Given the description of an element on the screen output the (x, y) to click on. 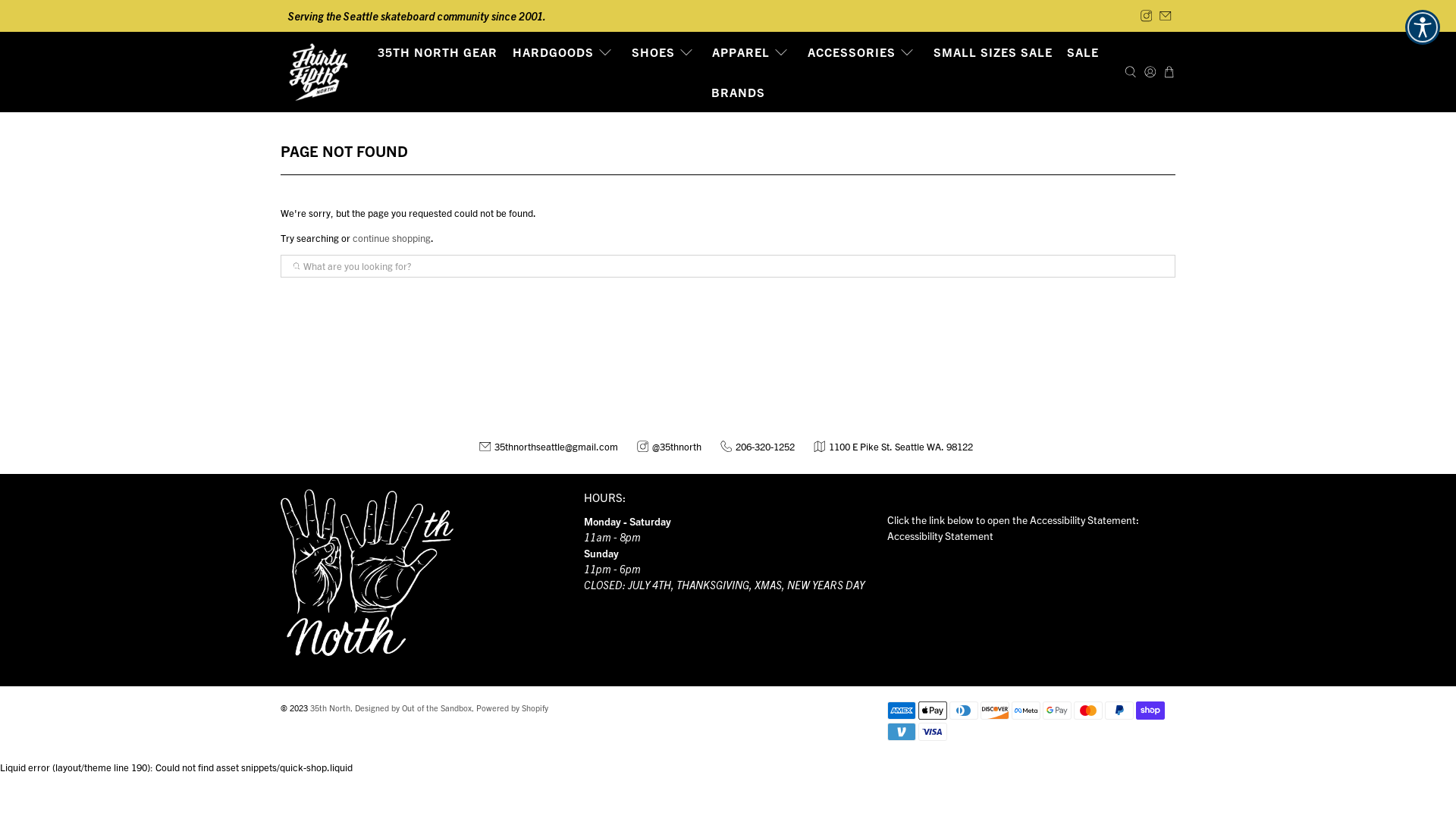
Accessibility Statement Element type: text (940, 535)
1100 E Pike St. Seattle WA. 98122 Element type: text (891, 445)
BRANDS Element type: text (738, 92)
35th North Element type: text (330, 707)
Powered by Shopify Element type: text (512, 707)
35th North Element type: hover (366, 580)
35th North Element type: hover (318, 71)
SHOES Element type: text (664, 52)
continue shopping Element type: text (391, 237)
SALE Element type: text (1083, 52)
APPAREL Element type: text (752, 52)
Email 35th North Element type: hover (1165, 15)
35TH NORTH GEAR Element type: text (437, 52)
Designed by Out of the Sandbox Element type: text (412, 707)
35th North on Instagram Element type: hover (1146, 15)
SMALL SIZES SALE Element type: text (992, 52)
HARDGOODS Element type: text (564, 52)
ACCESSORIES Element type: text (862, 52)
35thnorthseattle@gmail.com Element type: text (554, 445)
206-320-1252 Element type: text (759, 445)
@35thnorth Element type: text (670, 445)
